Given the description of an element on the screen output the (x, y) to click on. 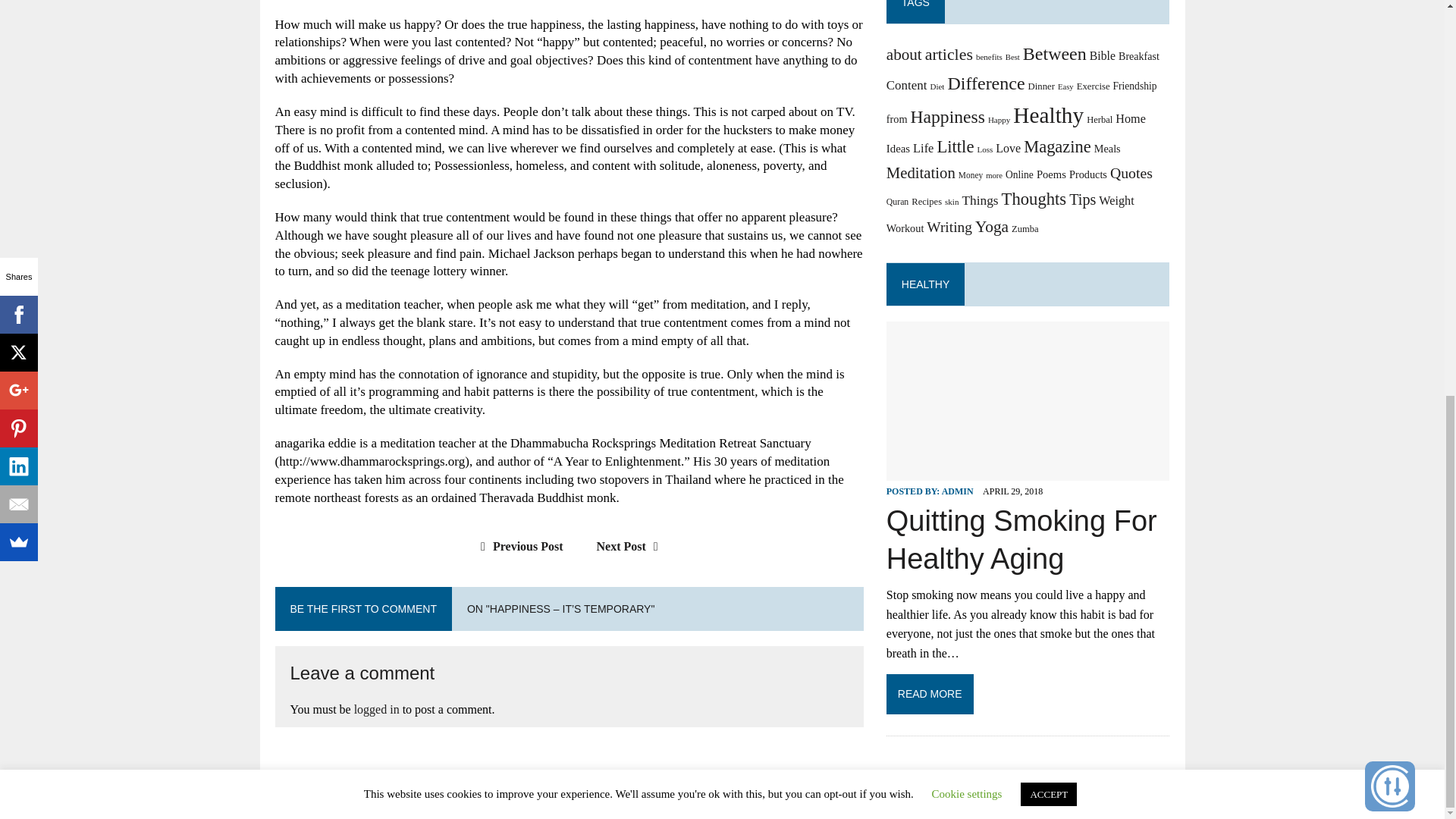
Content (906, 84)
Previous Post (517, 545)
logged in (375, 708)
Difference (986, 83)
Quitting Smoking For Healthy Aging (1021, 539)
Bible (1102, 55)
Best (1013, 57)
about (903, 54)
Next Post (630, 545)
articles (948, 54)
Quitting Smoking For Healthy Aging (1028, 470)
benefits (989, 56)
Diet (936, 85)
Breakfast (1138, 55)
Between (1054, 53)
